Given the description of an element on the screen output the (x, y) to click on. 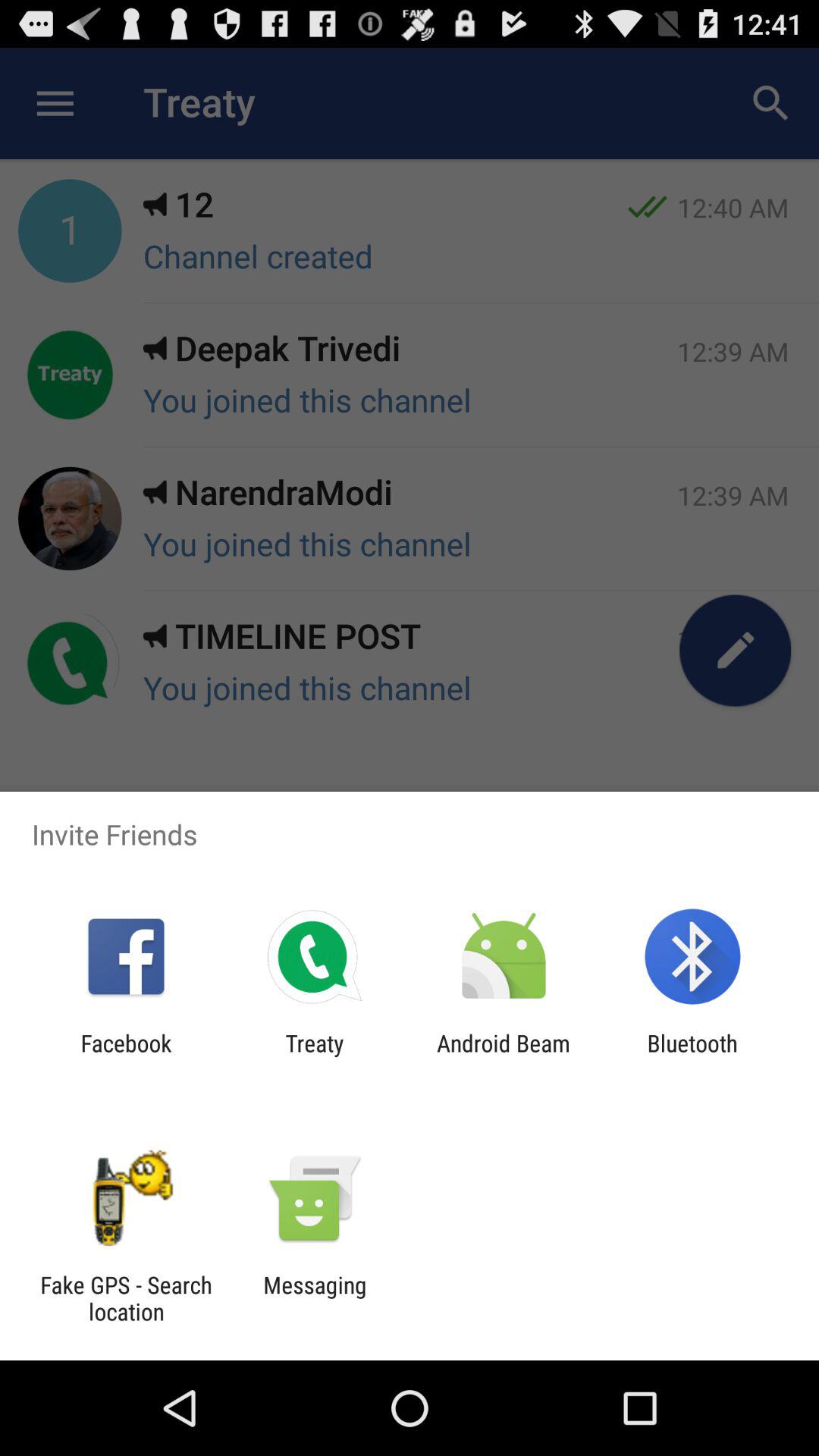
tap the treaty item (314, 1056)
